Given the description of an element on the screen output the (x, y) to click on. 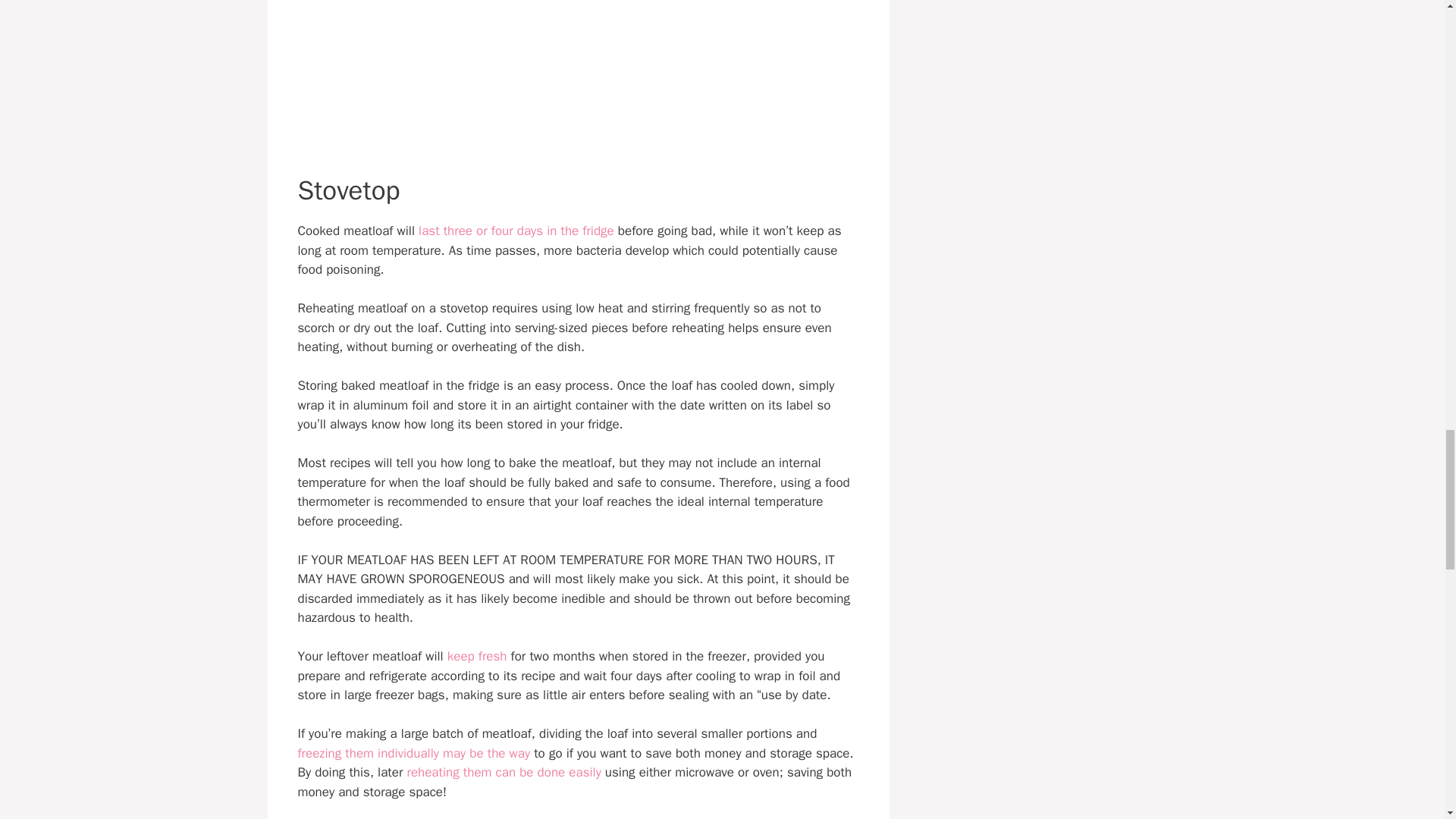
keep fresh (476, 656)
reheating them can be done easily (502, 772)
last three or four days in the fridge (516, 230)
freezing them individually may be the way (413, 753)
